Given the description of an element on the screen output the (x, y) to click on. 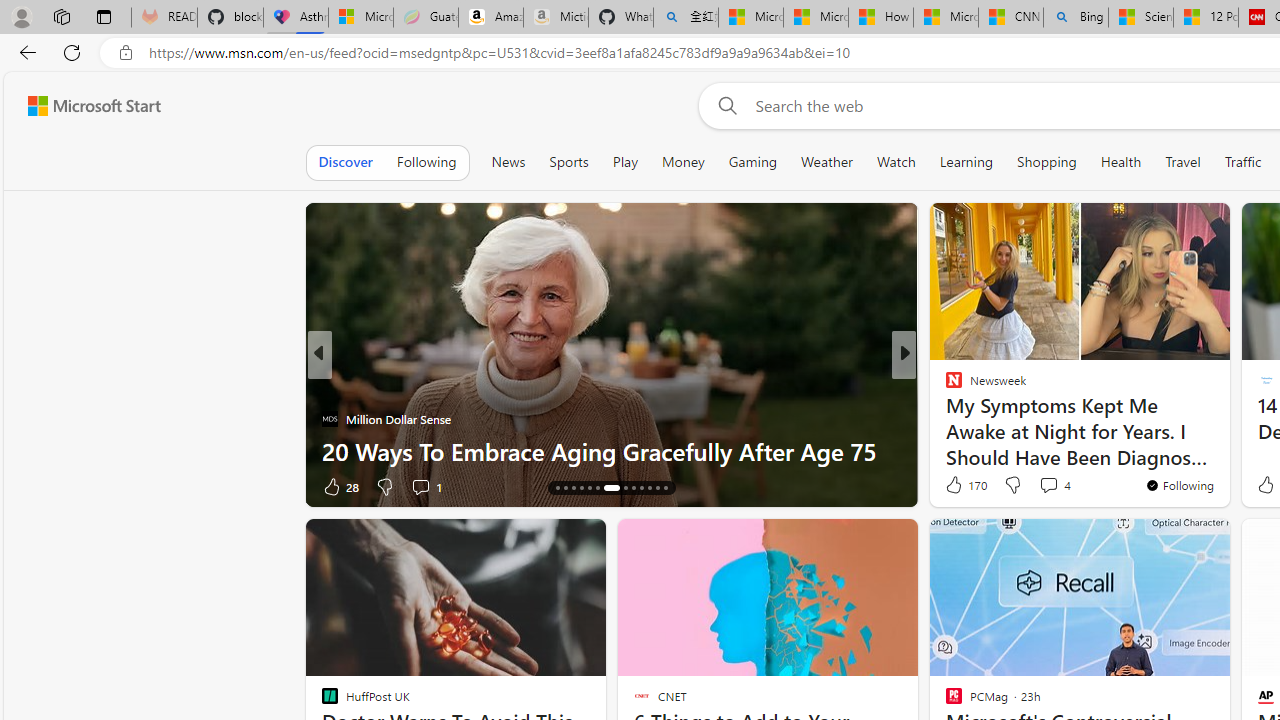
TODAY (944, 386)
View comments 4 Comment (1048, 485)
View comments 34 Comment (1051, 486)
AutomationID: tab-23 (641, 487)
